Given the description of an element on the screen output the (x, y) to click on. 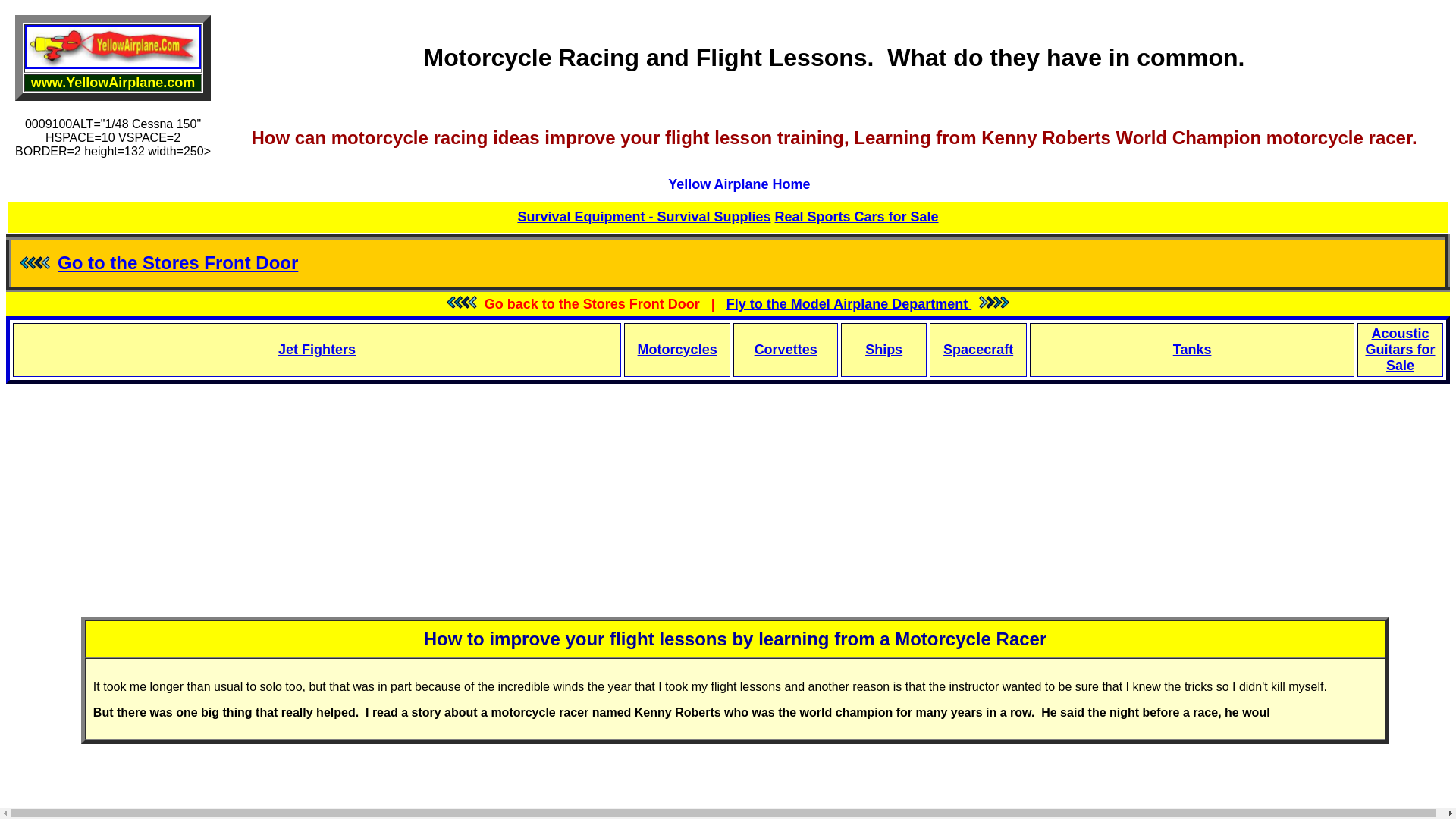
Real Sports Cars for Sale (856, 216)
Jet Fighters (316, 349)
Advertisement (727, 539)
Fly to the Model Airplane Department  (848, 304)
Survival Equipment - Survival Supplies (643, 216)
Corvettes (785, 349)
Tanks (1192, 349)
Yellow Airplane Home (738, 183)
Motorcycles (677, 349)
Ships (883, 349)
Spacecraft (978, 349)
Go to the Stores Front Door (178, 262)
Acoustic Guitars for Sale (1399, 349)
